Given the description of an element on the screen output the (x, y) to click on. 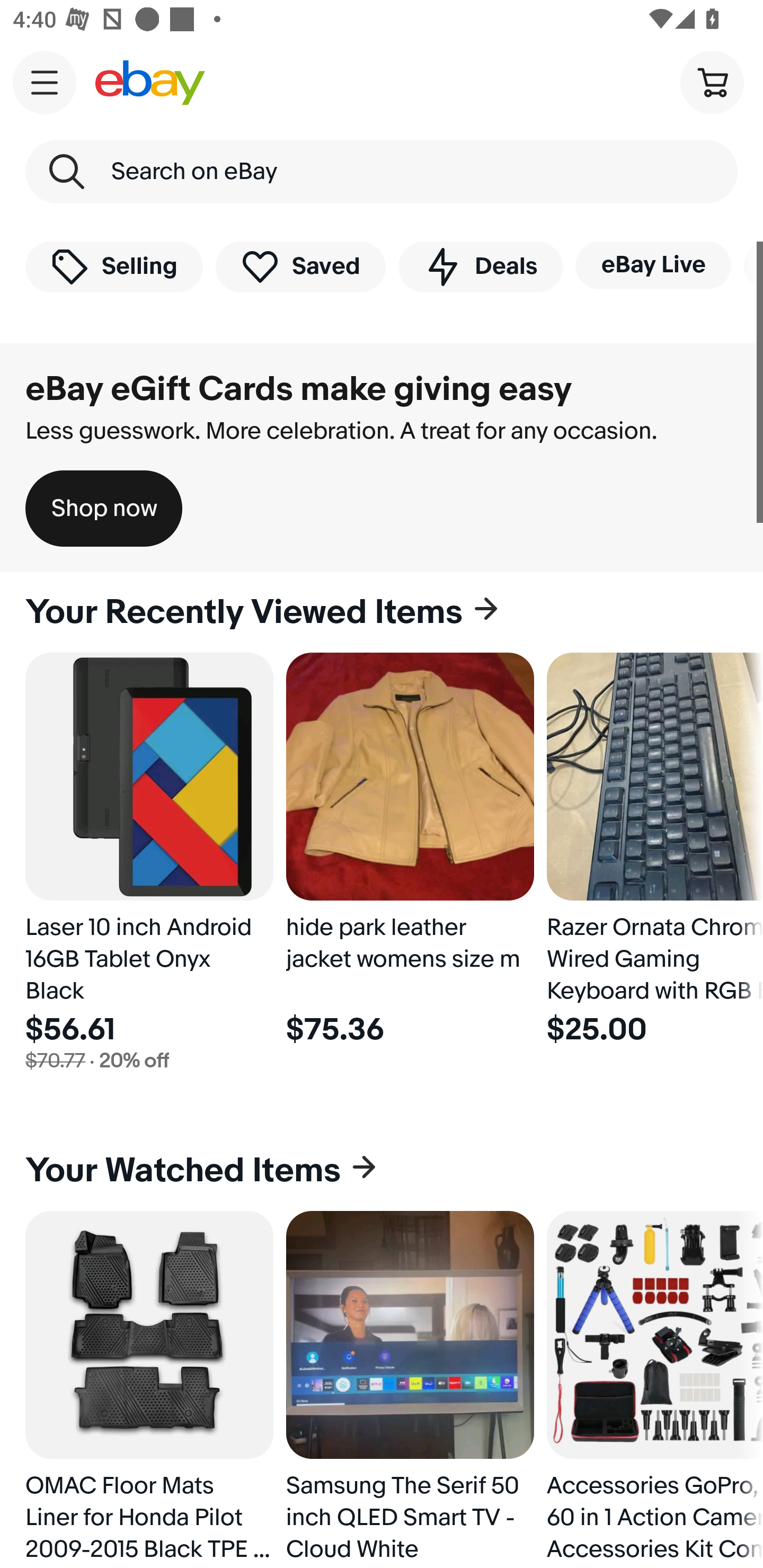
Main navigation, open (44, 82)
Cart button shopping cart (711, 81)
Search on eBay Search Keyword Search on eBay (381, 171)
Selling (113, 266)
Saved (300, 266)
Deals (480, 266)
eBay Live (652, 264)
eBay eGift Cards make giving easy (298, 389)
Shop now (103, 508)
Your Recently Viewed Items   (381, 612)
Your Watched Items   (381, 1170)
